Given the description of an element on the screen output the (x, y) to click on. 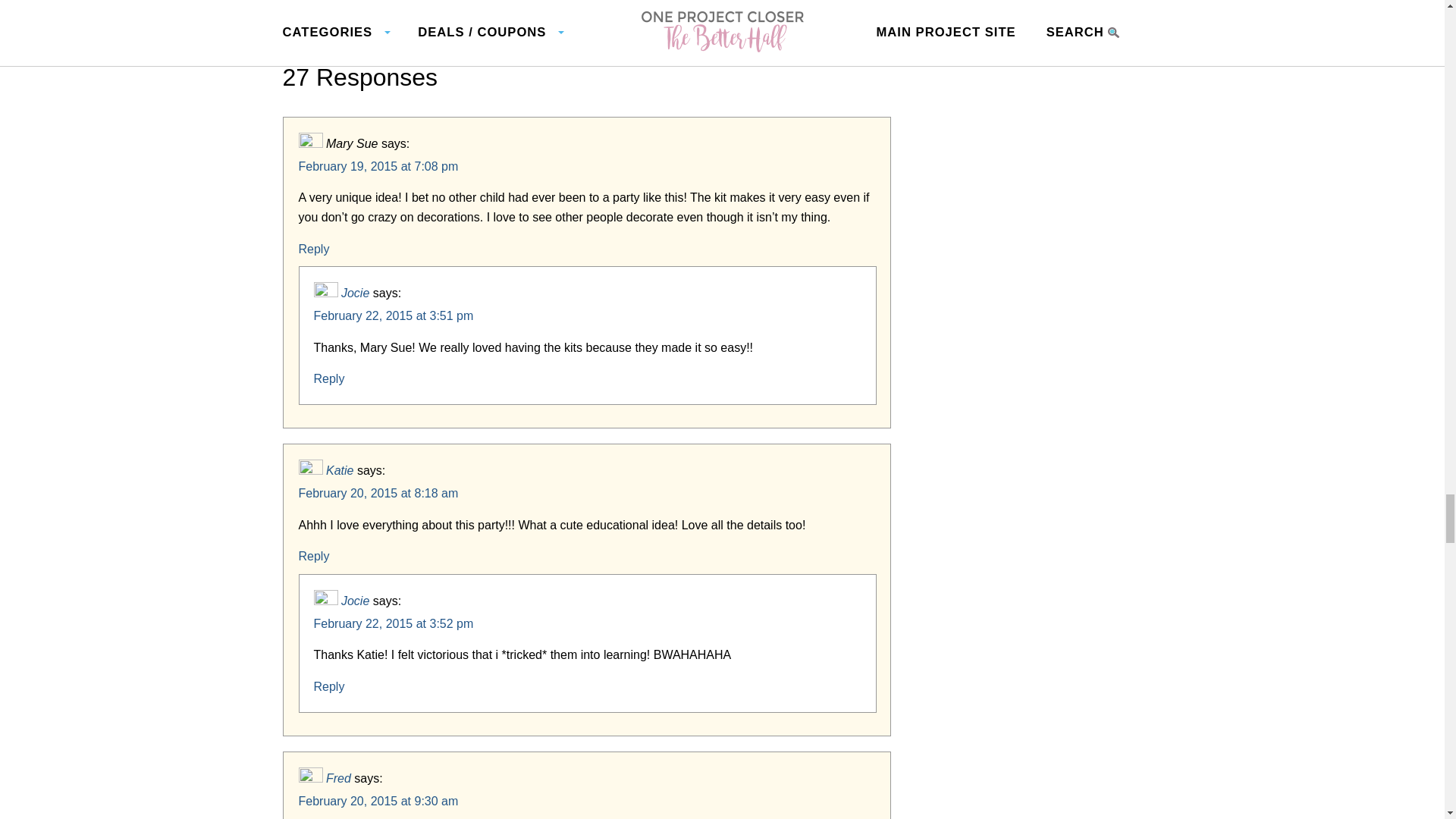
Jocie (354, 292)
Reply (314, 248)
February 22, 2015 at 3:51 pm (394, 315)
6K (762, 16)
311 (486, 16)
February 19, 2015 at 7:08 pm (378, 165)
